Given the description of an element on the screen output the (x, y) to click on. 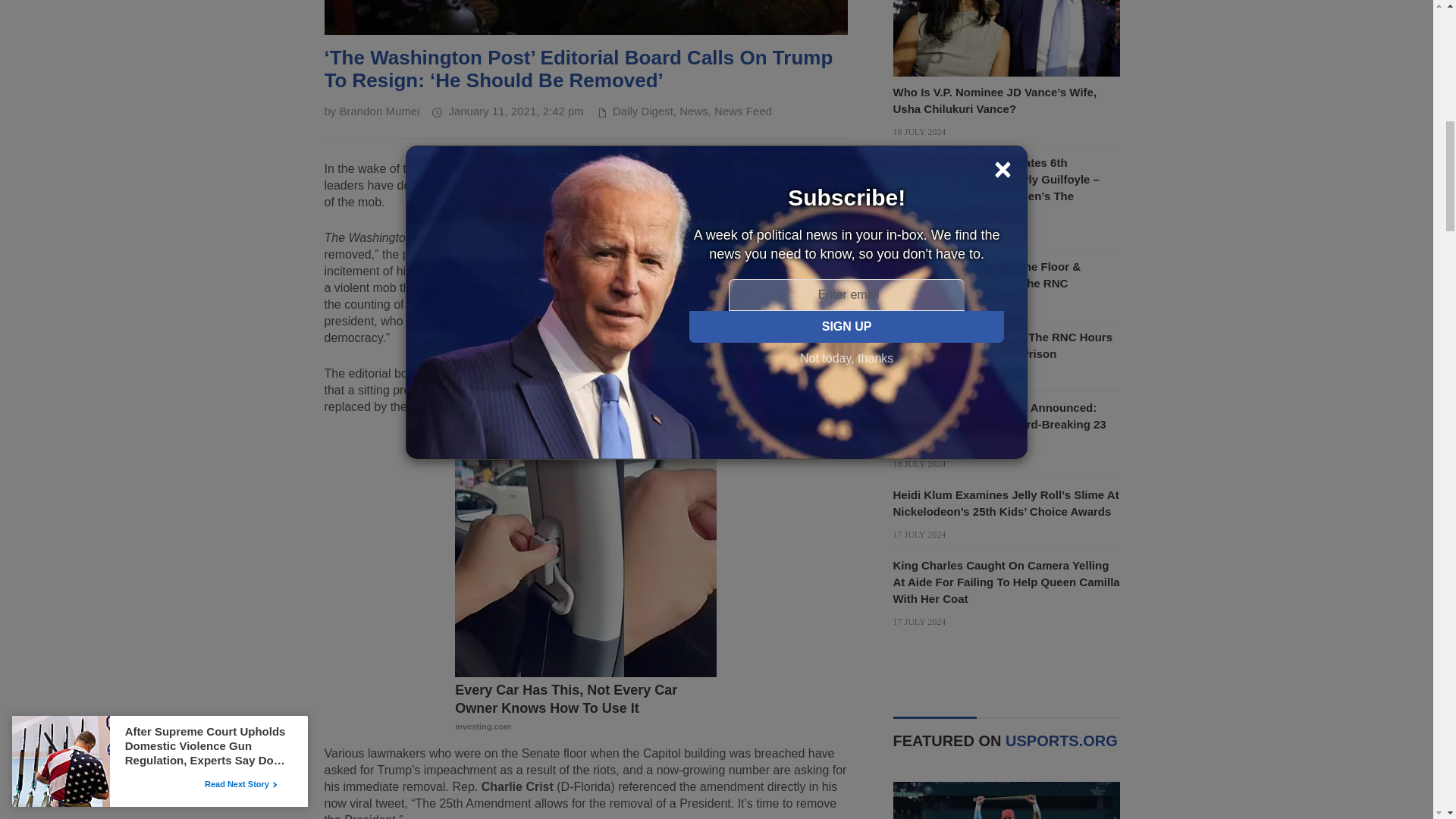
News Feed (742, 110)
Every Car Has This, Not Every Car Owner Knows How To Use It (585, 568)
News (693, 110)
Every Car Has This, Not Every Car Owner Knows How To Use It (585, 707)
Sponsored Links (641, 445)
by Taboola (695, 445)
Daily Digest (642, 110)
